Given the description of an element on the screen output the (x, y) to click on. 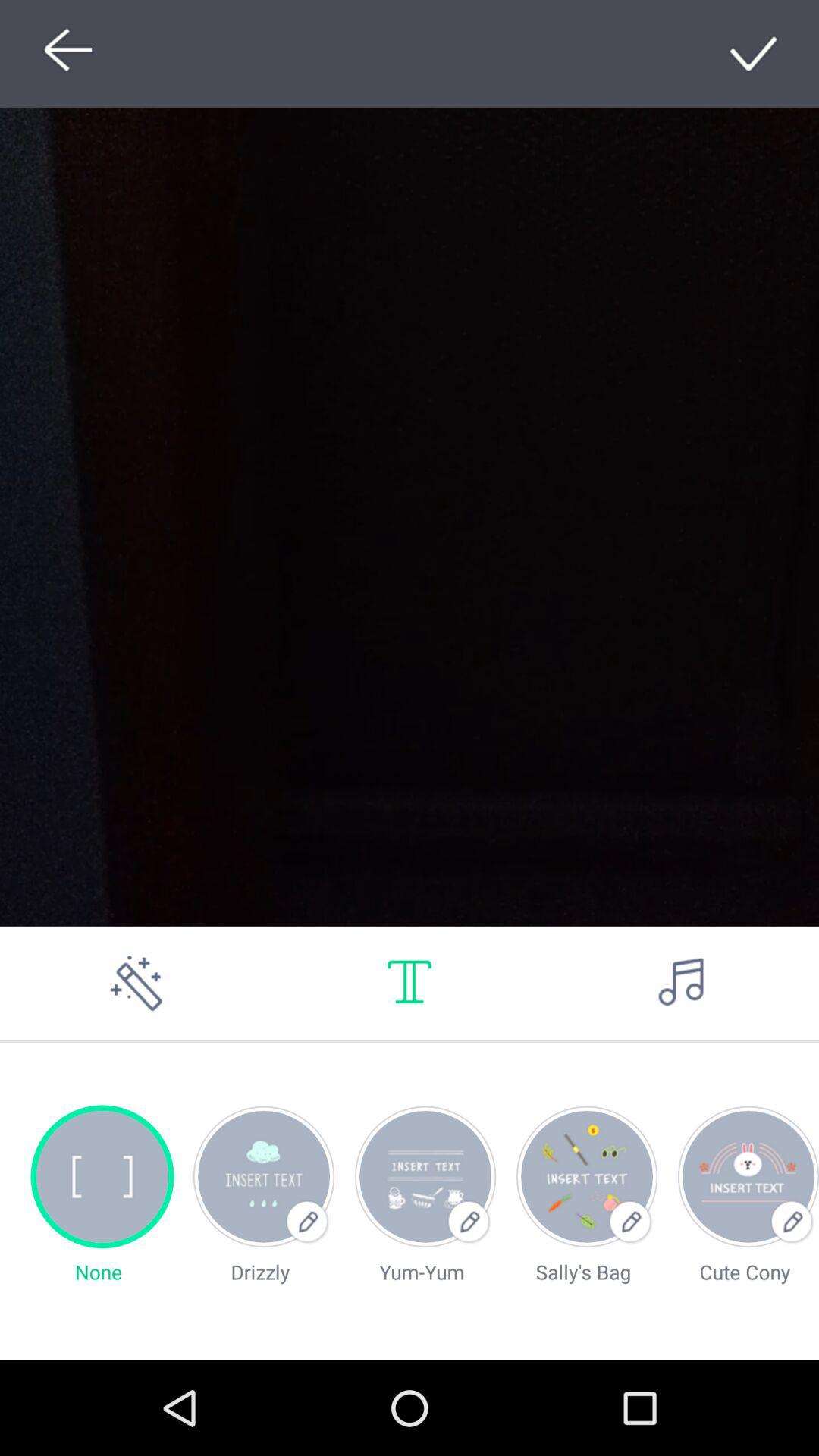
play sound button (682, 983)
